Given the description of an element on the screen output the (x, y) to click on. 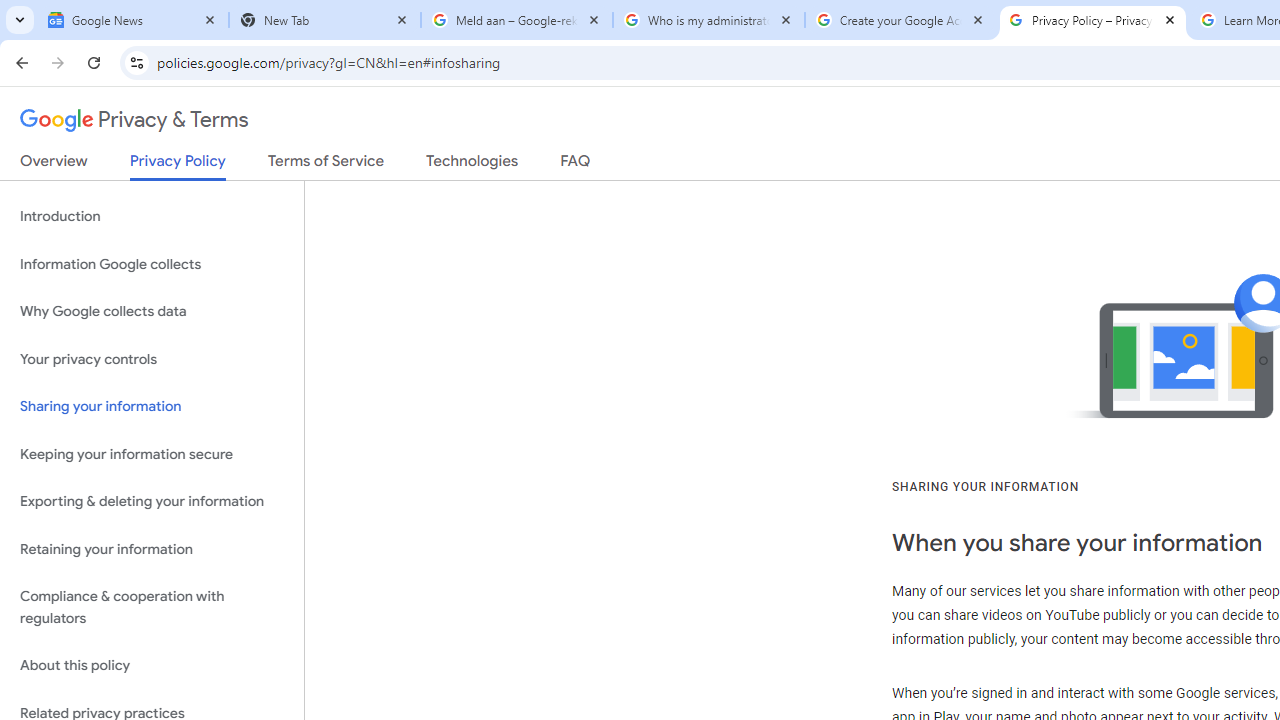
Google News (133, 20)
Sharing your information (152, 407)
Exporting & deleting your information (152, 502)
New Tab (325, 20)
Create your Google Account (901, 20)
Why Google collects data (152, 312)
